Given the description of an element on the screen output the (x, y) to click on. 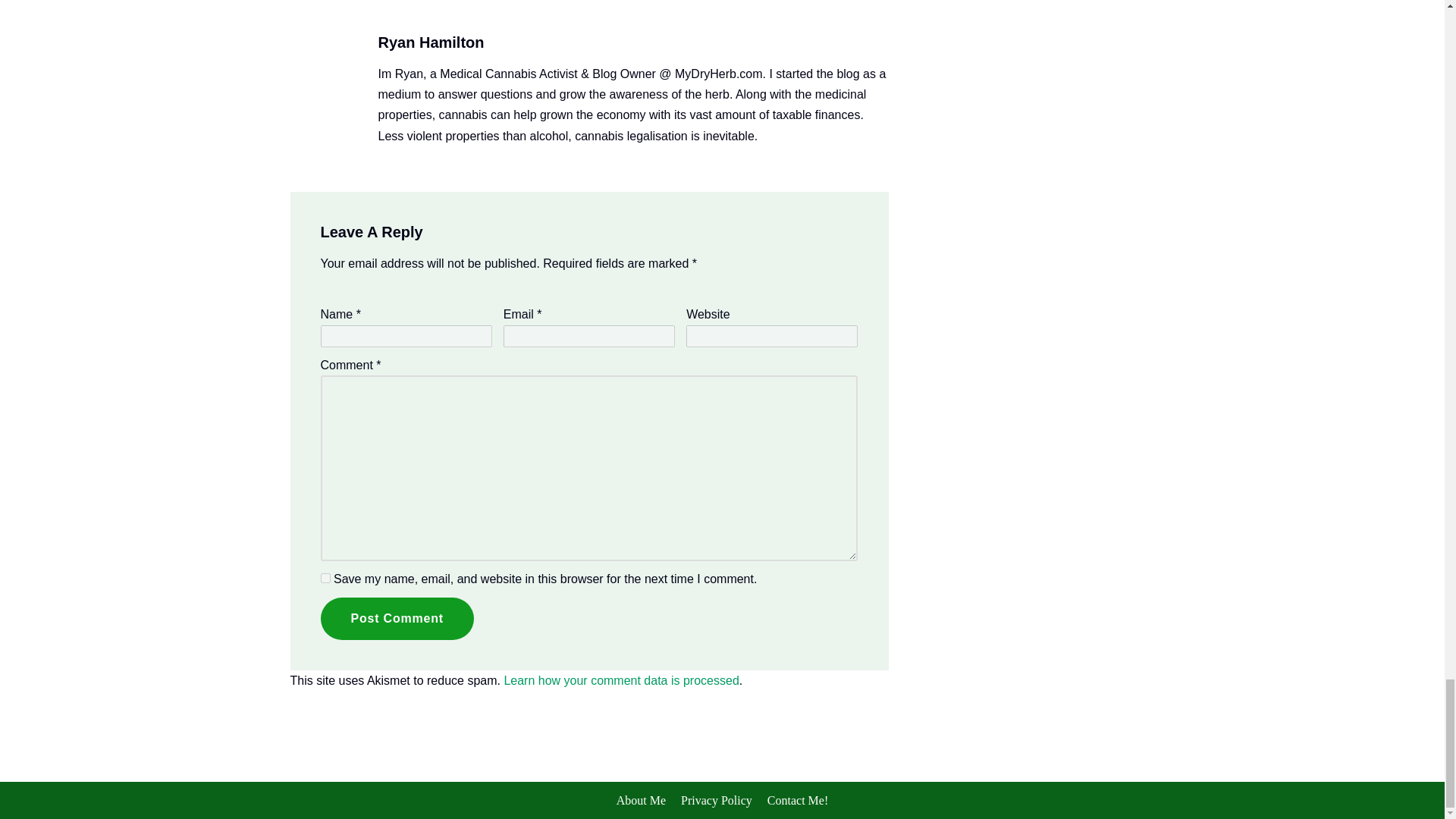
Learn how your comment data is processed (620, 680)
yes (325, 578)
Post Comment (397, 618)
Post Comment (397, 618)
